Given the description of an element on the screen output the (x, y) to click on. 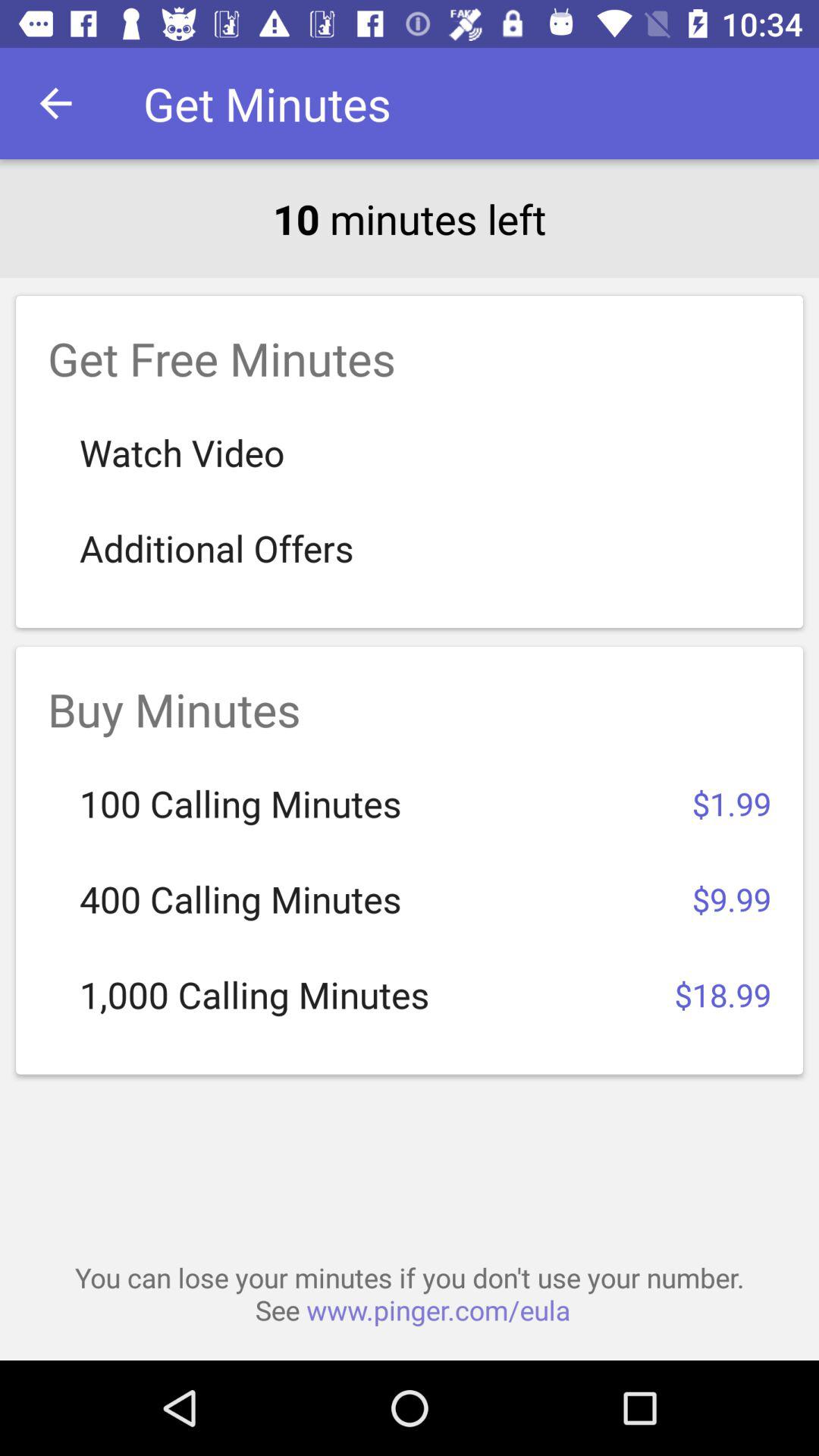
jump until the you can lose (409, 1293)
